Given the description of an element on the screen output the (x, y) to click on. 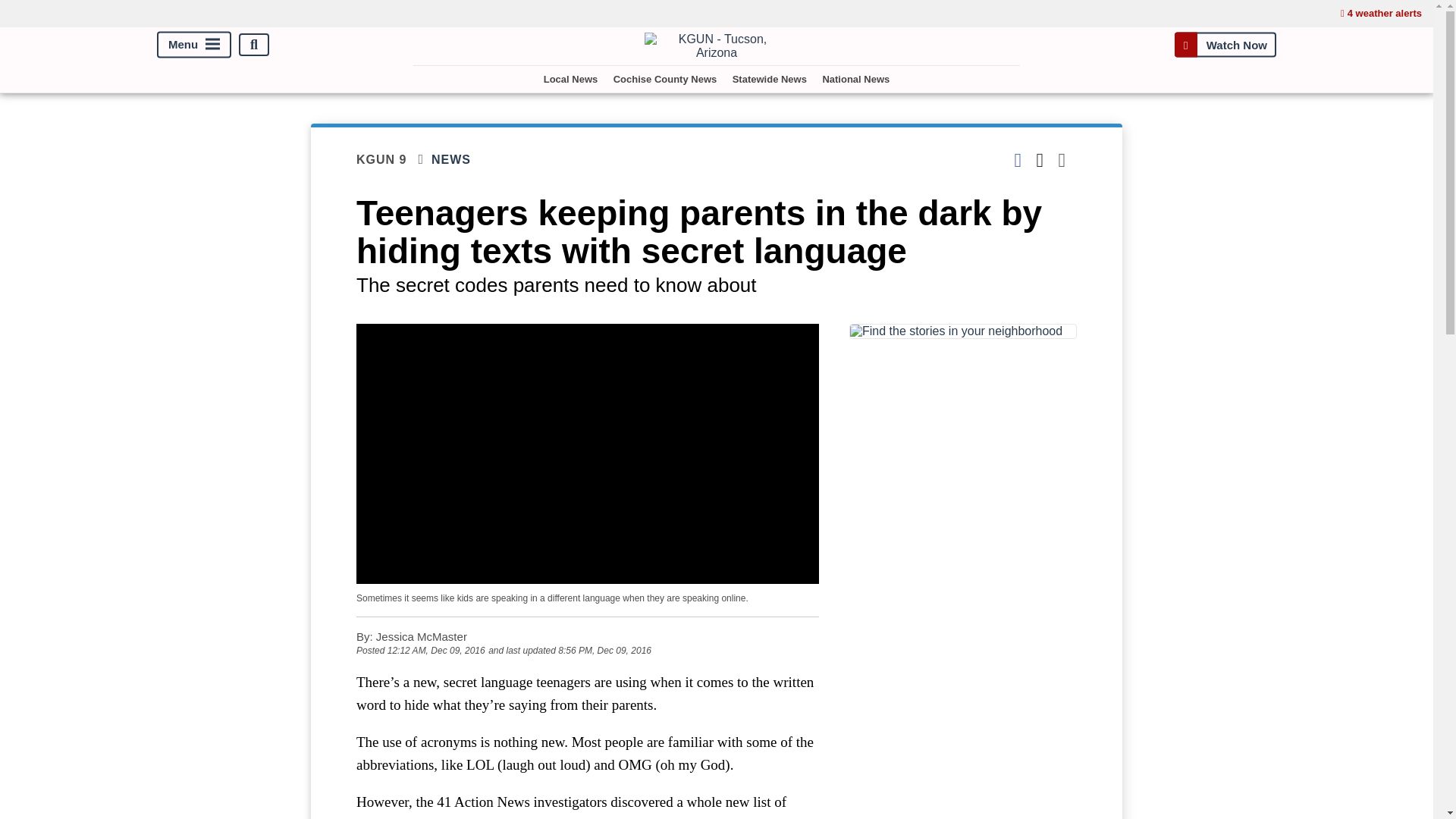
Watch Now (1224, 43)
Menu (194, 44)
